Given the description of an element on the screen output the (x, y) to click on. 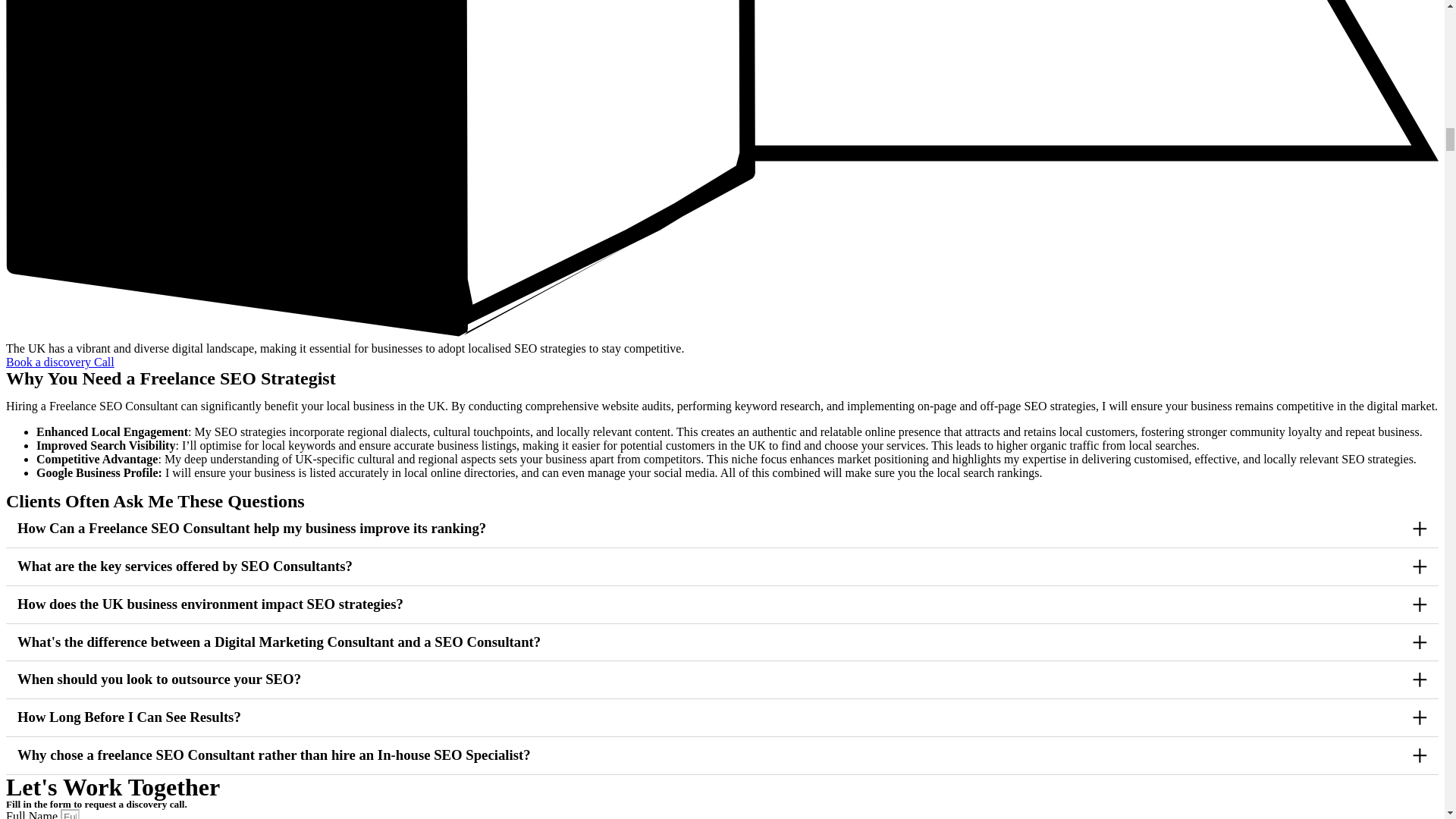
What are the key services offered by SEO Consultants? (184, 565)
How does the UK business environment impact SEO strategies? (210, 603)
Book a discovery Call (60, 361)
When should you look to outsource your SEO? (159, 678)
How Long Before I Can See Results? (129, 716)
